Given the description of an element on the screen output the (x, y) to click on. 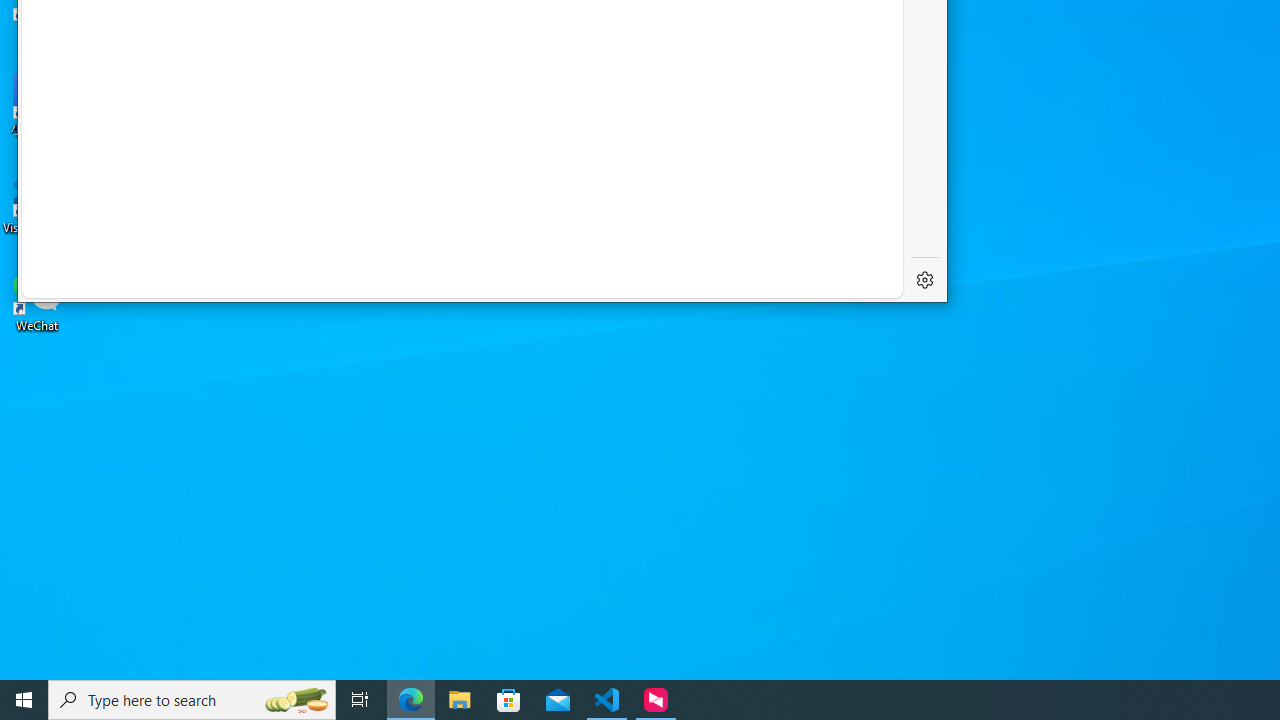
File Explorer (460, 699)
Visual Studio Code - 1 running window (607, 699)
Type here to search (191, 699)
Search highlights icon opens search home window (295, 699)
Microsoft Edge - 1 running window (411, 699)
Start (24, 699)
Task View (359, 699)
Microsoft Store (509, 699)
